Given the description of an element on the screen output the (x, y) to click on. 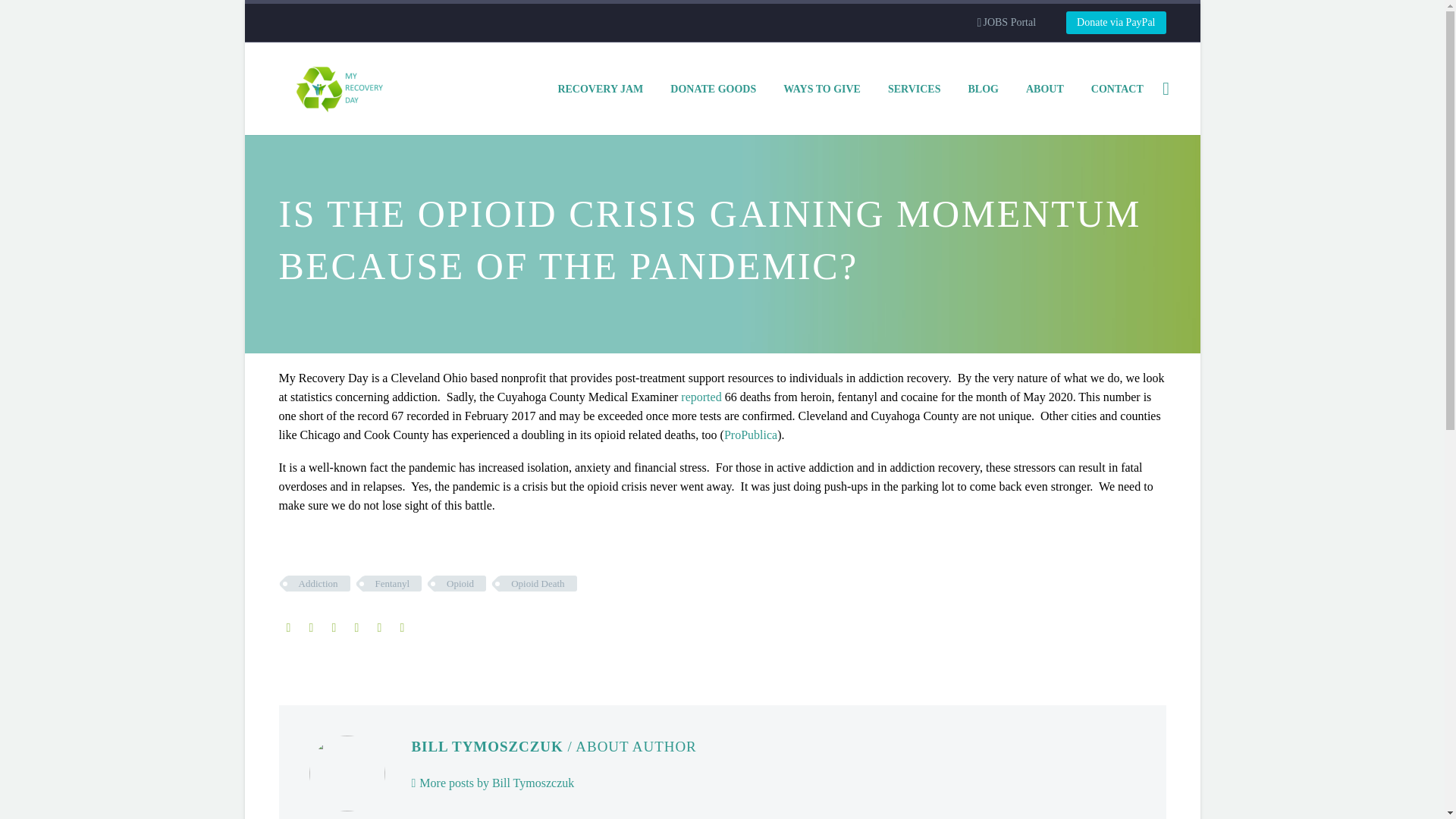
JOBS Portal (1005, 22)
WAYS TO GIVE (821, 87)
DONATE GOODS (713, 87)
Donate via PayPal (1115, 22)
RECOVERY JAM (599, 87)
Twitter (310, 627)
Facebook (288, 627)
LinkedIn (378, 627)
Tumblr (356, 627)
Pinterest (333, 627)
